Given the description of an element on the screen output the (x, y) to click on. 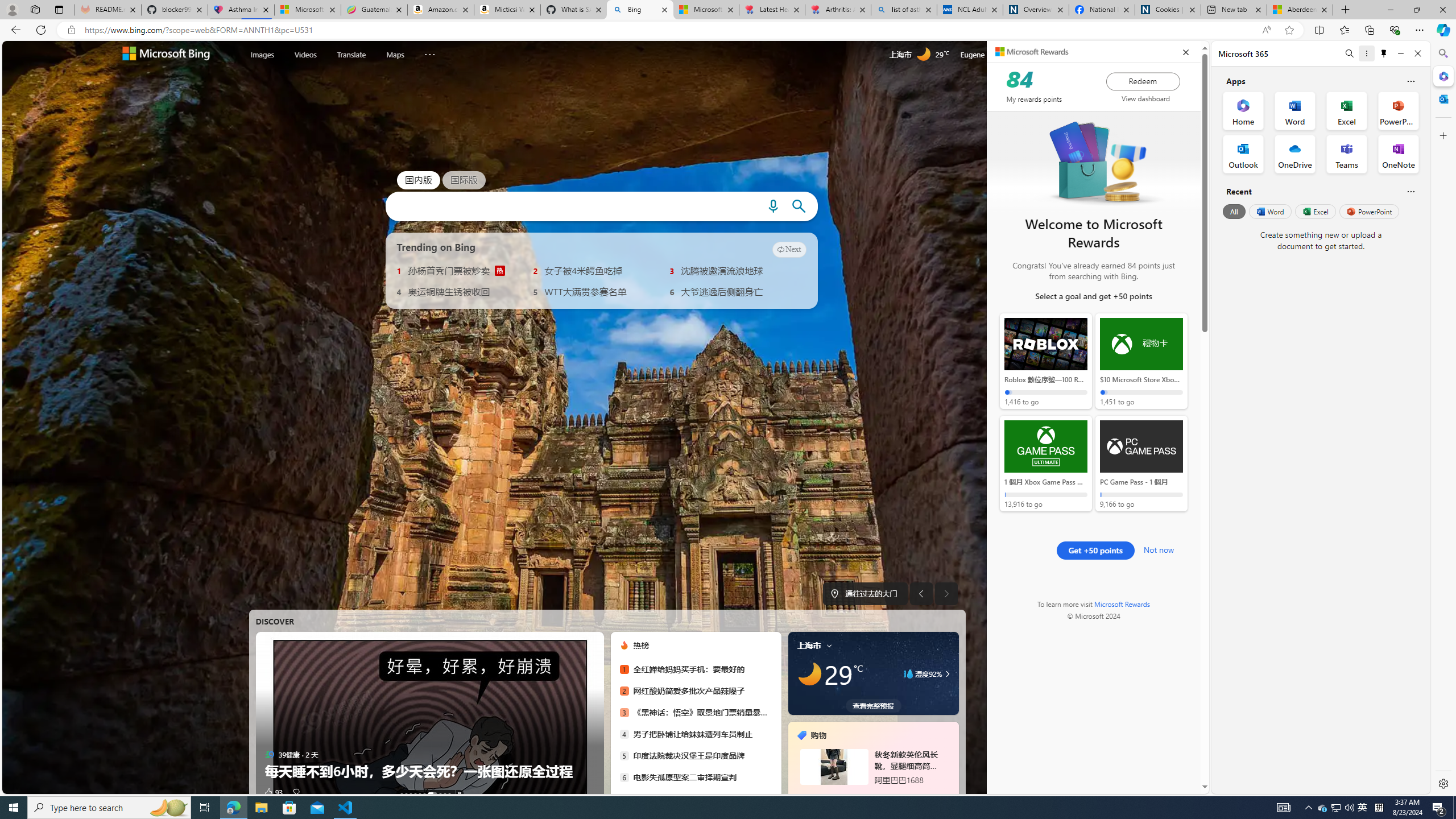
PowerPoint Office App (1398, 110)
Unpin side pane (1383, 53)
Next image (946, 593)
tab-1 (862, 795)
Get +50 points (1094, 550)
Excel (1315, 210)
All (1233, 210)
Next (788, 248)
